Given the description of an element on the screen output the (x, y) to click on. 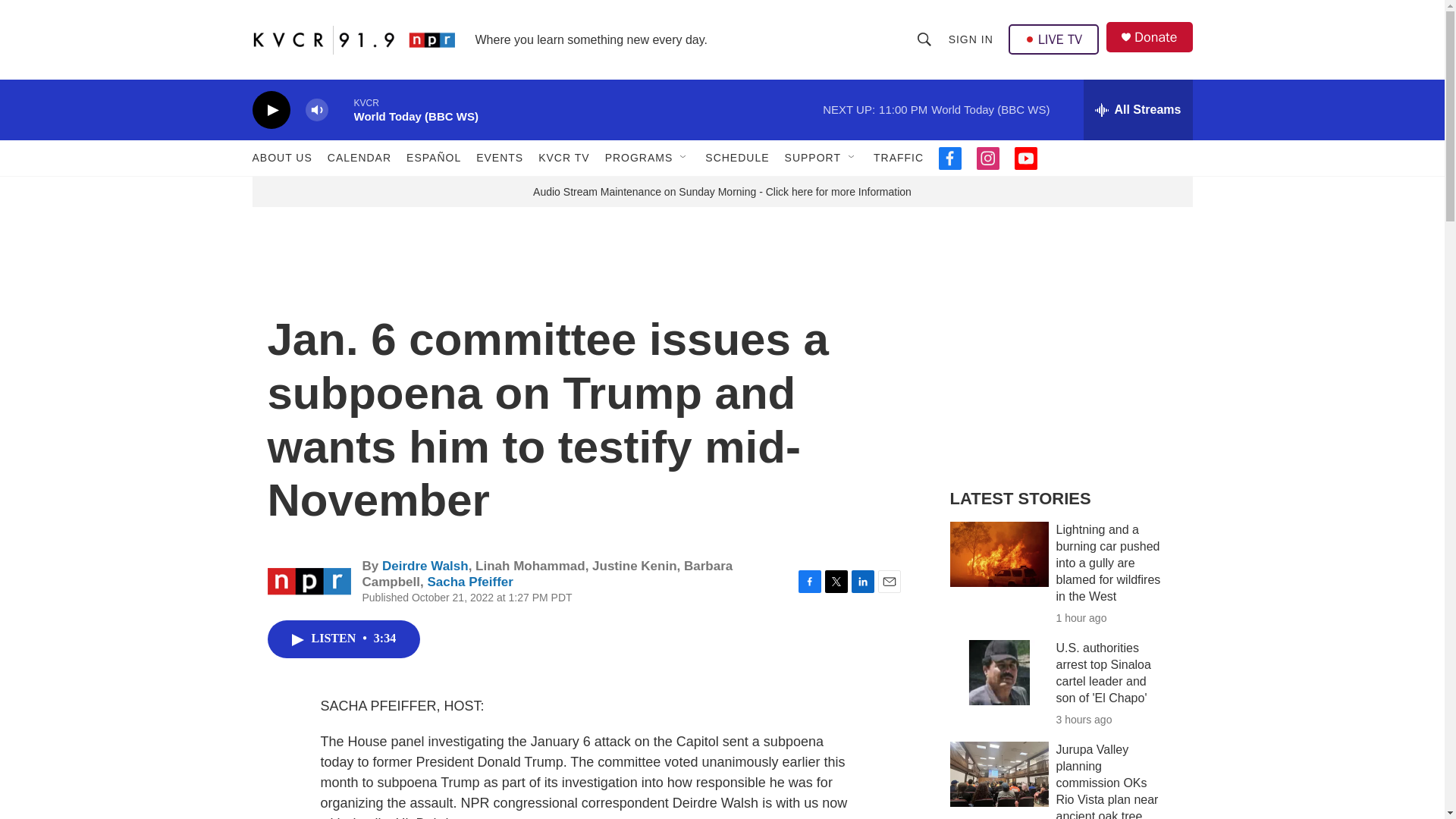
3rd party ad content (1062, 362)
